Given the description of an element on the screen output the (x, y) to click on. 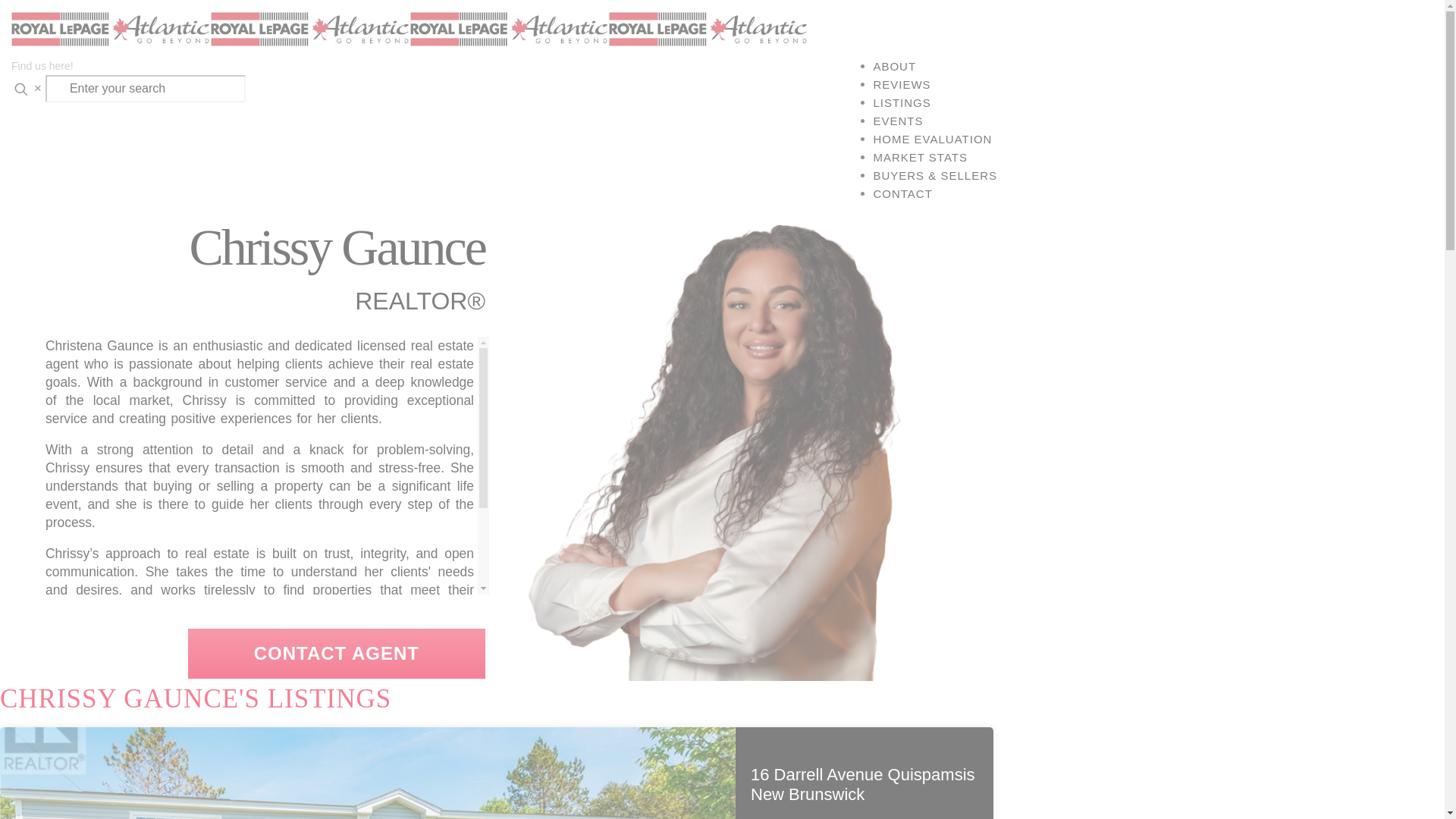
LISTINGS (901, 102)
Royal LePage Atlantic (409, 27)
MARKET STATS (920, 156)
16 Darrell Avenue Quispamsis New Brunswick (863, 783)
EVENTS (897, 120)
ABOUT (893, 65)
REVIEWS (901, 83)
CONTACT (901, 193)
CONTACT AGENT (335, 653)
HOME EVALUATION (931, 138)
